Given the description of an element on the screen output the (x, y) to click on. 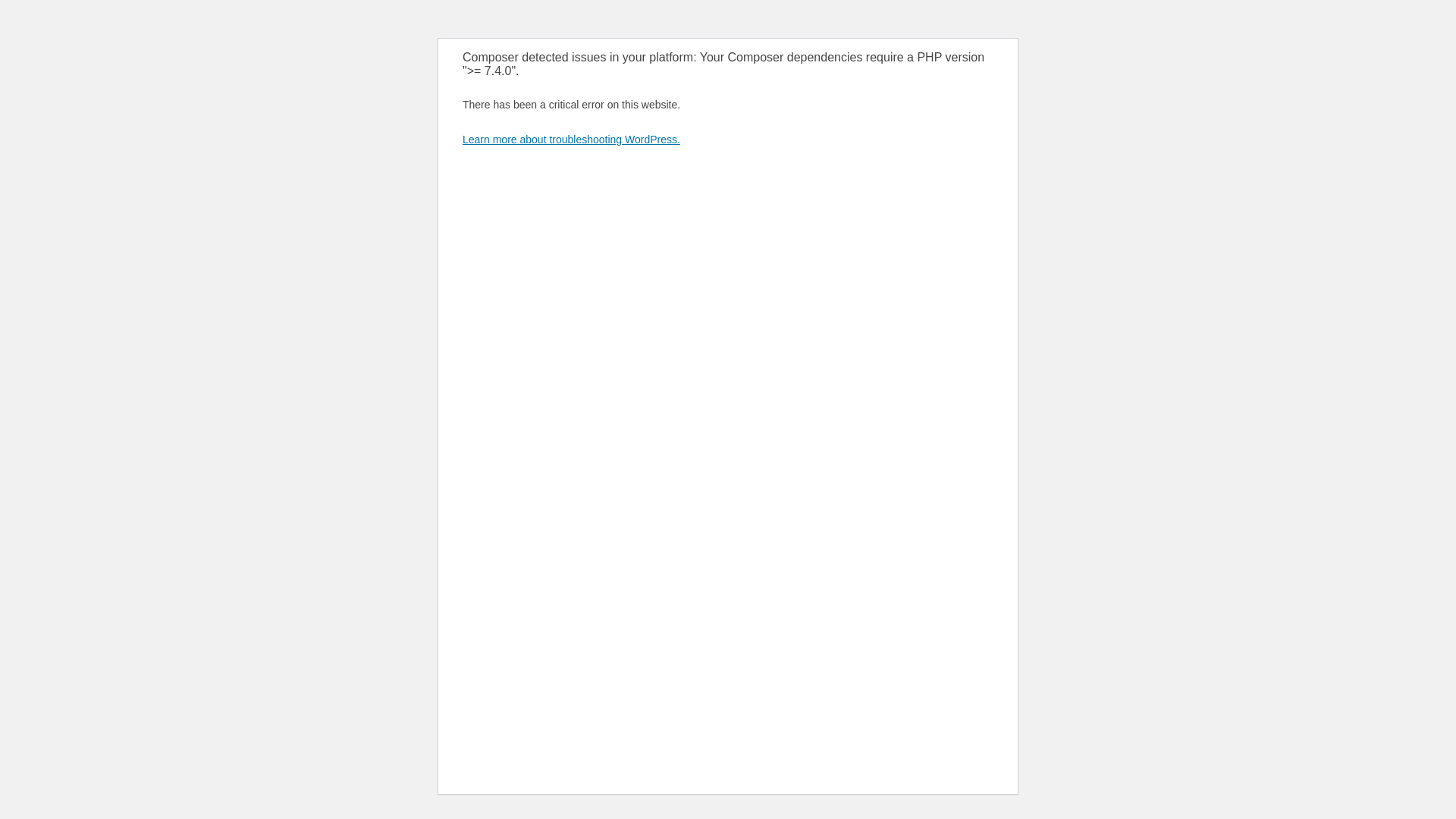
Learn more about troubleshooting WordPress. Element type: text (571, 139)
